Given the description of an element on the screen output the (x, y) to click on. 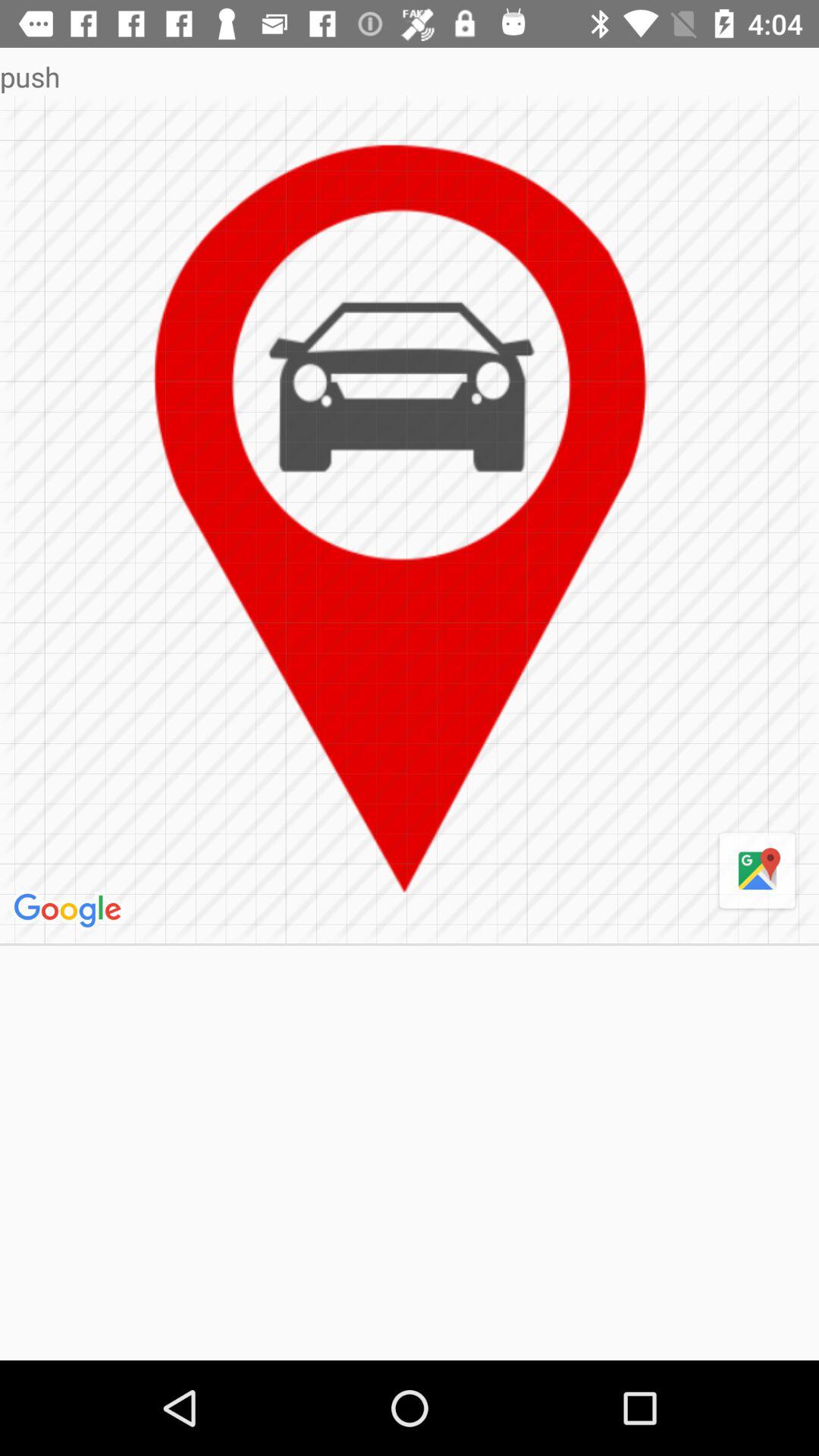
choose item below push (69, 911)
